Given the description of an element on the screen output the (x, y) to click on. 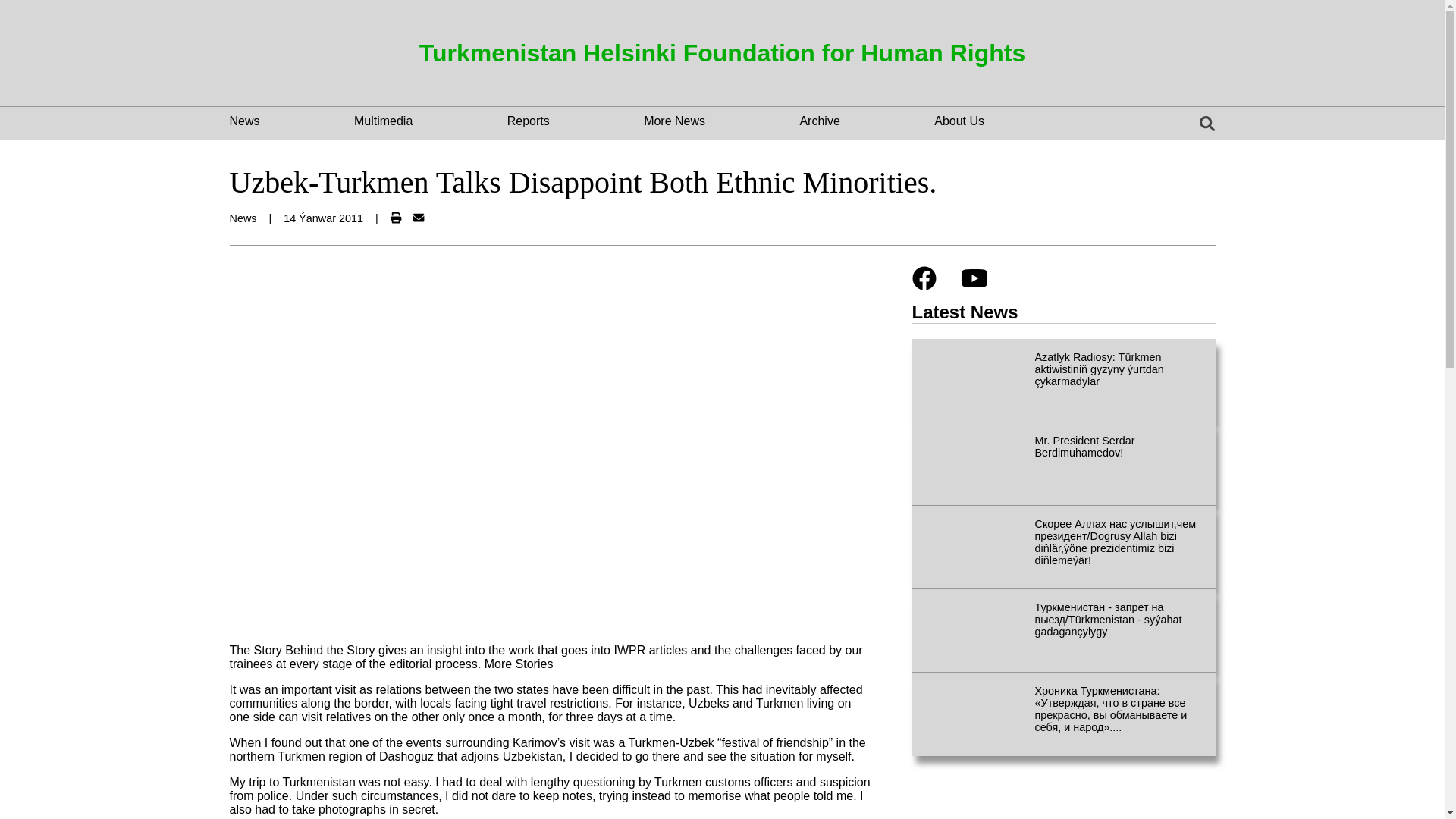
Facebook link (923, 278)
English (1176, 122)
Youtube link (973, 278)
Facebook link (923, 282)
Youtube link (973, 282)
